Given the description of an element on the screen output the (x, y) to click on. 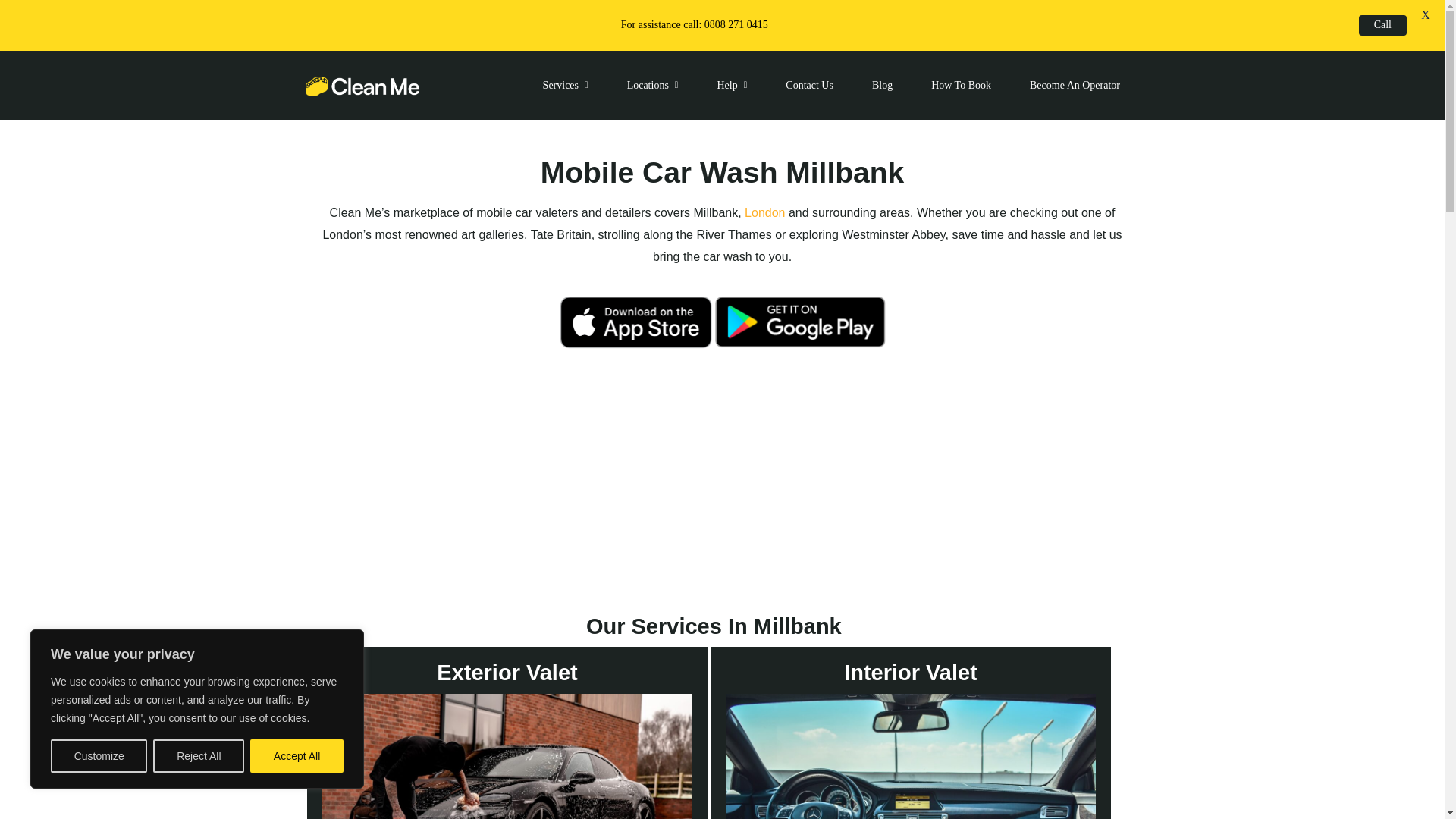
Services (565, 84)
Reject All (198, 756)
Accept All (296, 756)
Customize (98, 756)
Locations (652, 84)
